Given the description of an element on the screen output the (x, y) to click on. 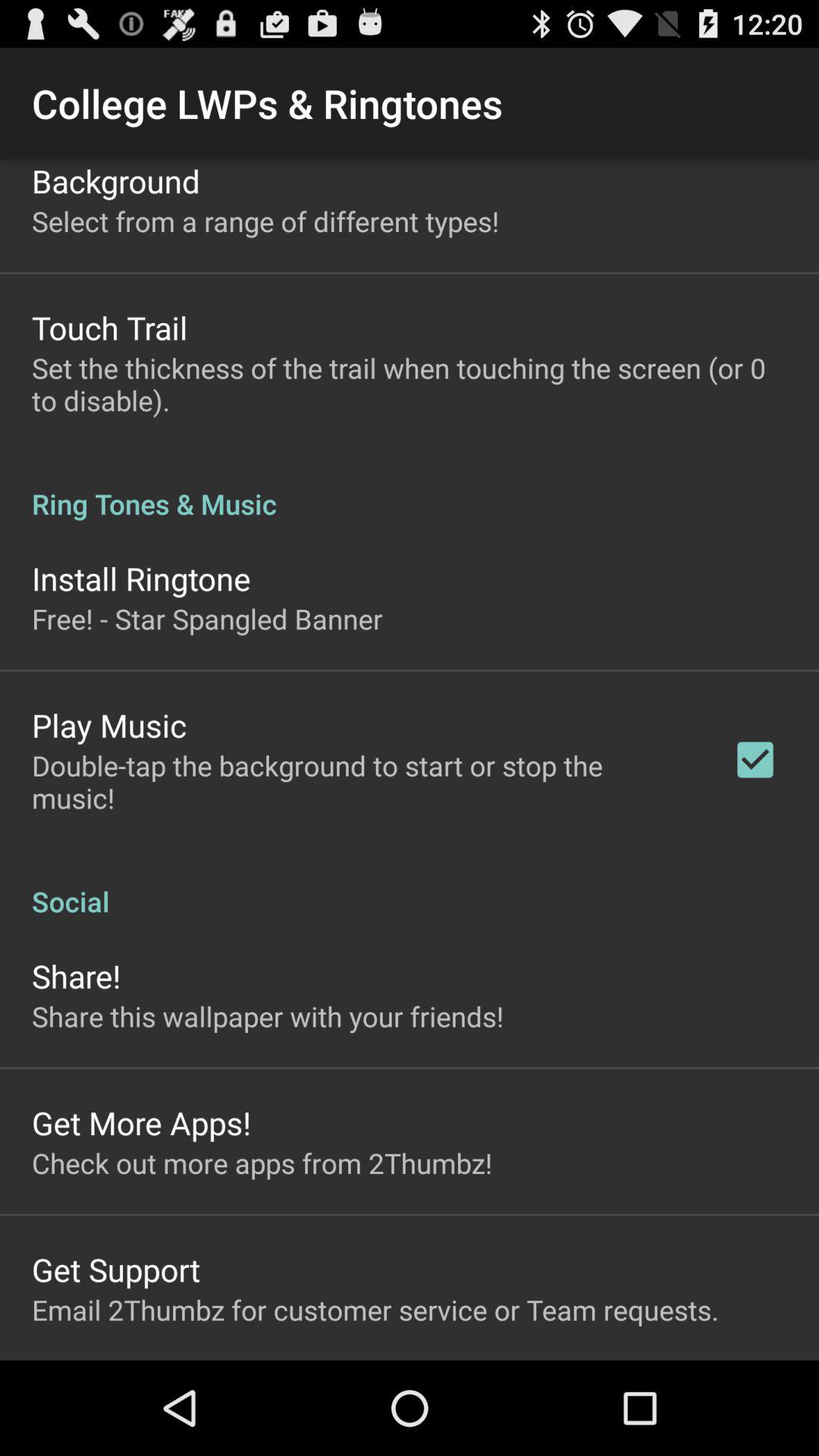
press the item to the right of the double tap the (755, 759)
